Given the description of an element on the screen output the (x, y) to click on. 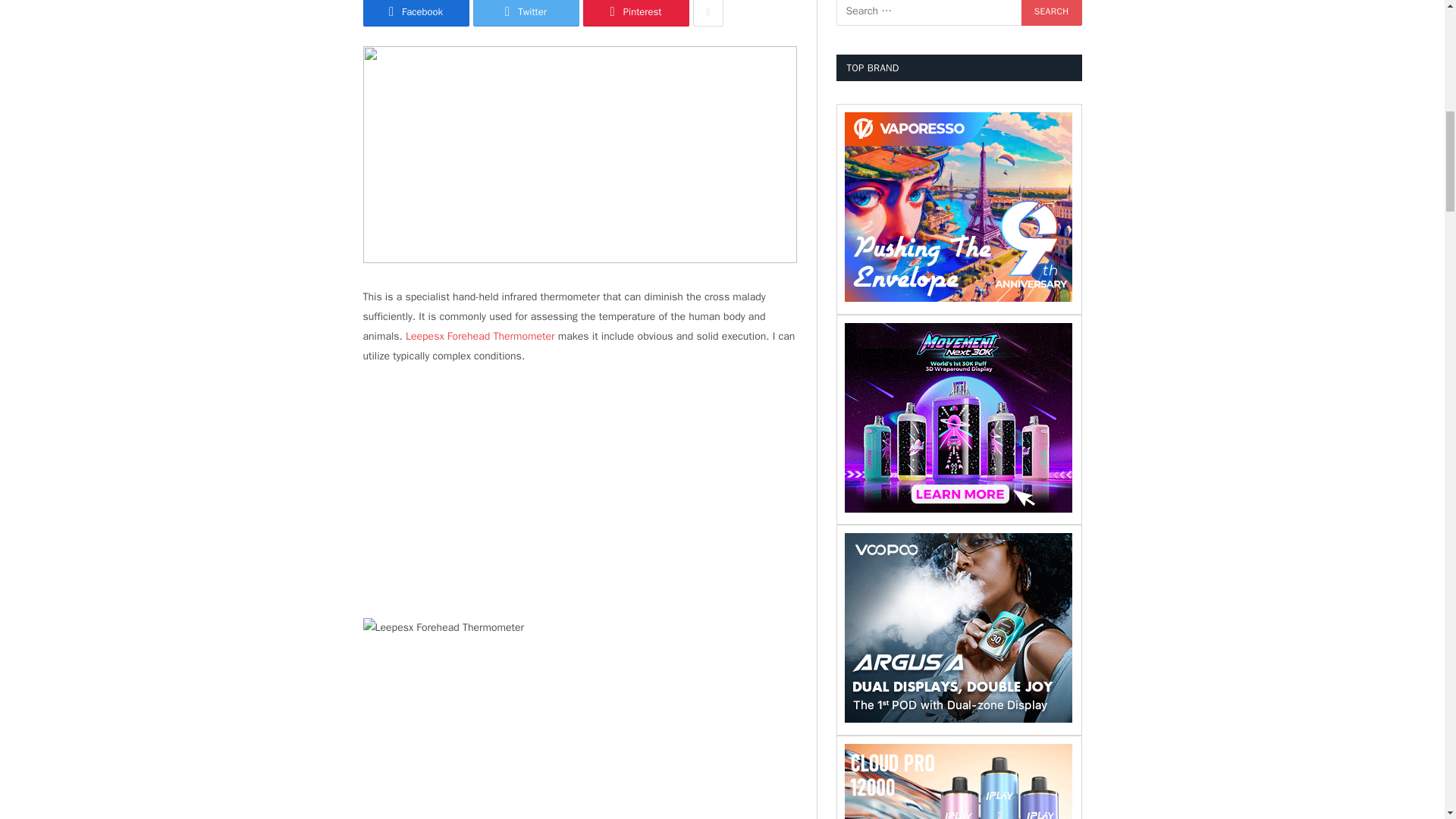
Share on Facebook (415, 13)
Show More Social Sharing (708, 13)
Search (1051, 12)
Search (1051, 12)
Share on Pinterest (635, 13)
Share on Twitter (526, 13)
